Given the description of an element on the screen output the (x, y) to click on. 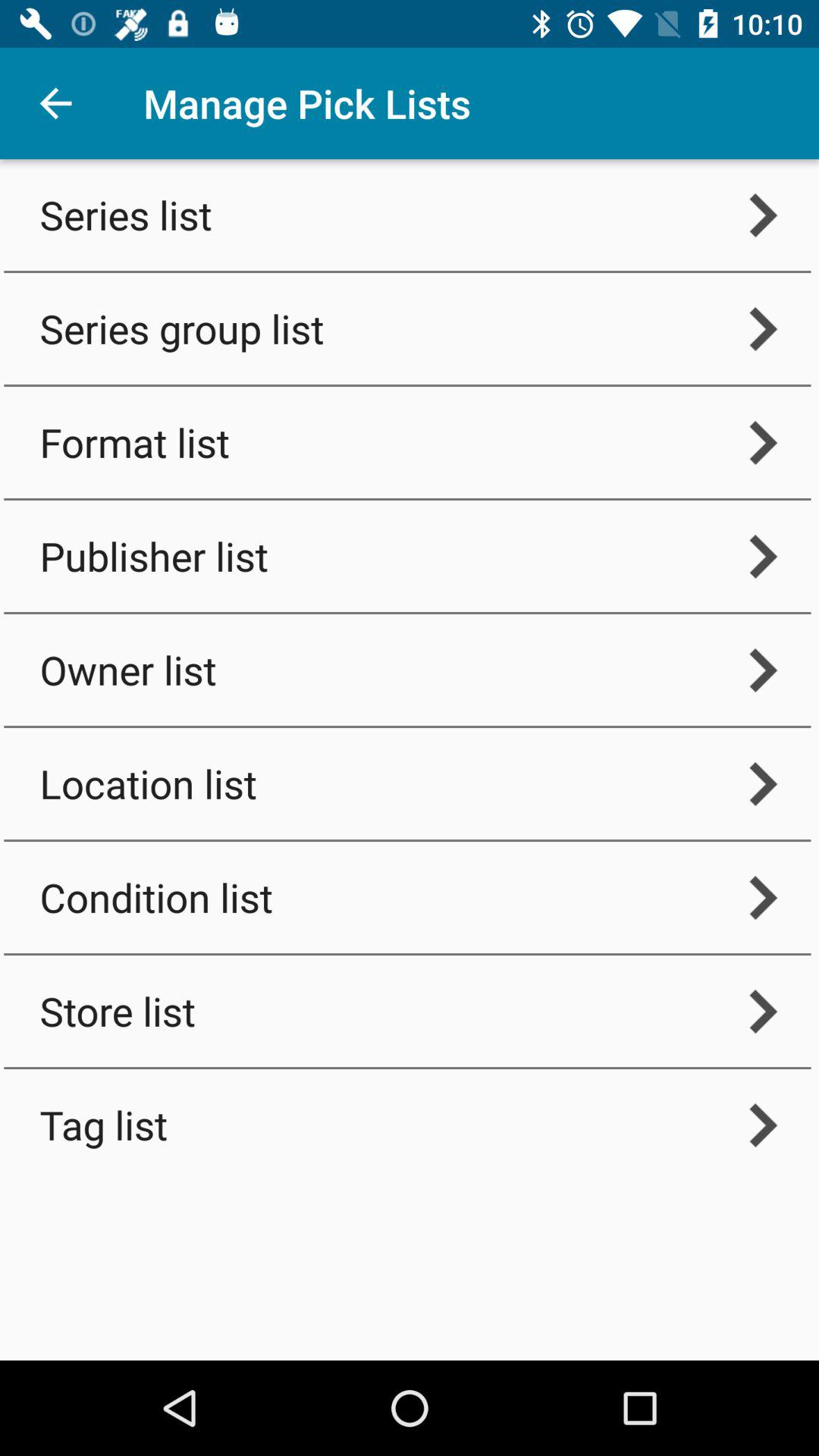
turn on icon to the left of the manage pick lists icon (55, 103)
